Given the description of an element on the screen output the (x, y) to click on. 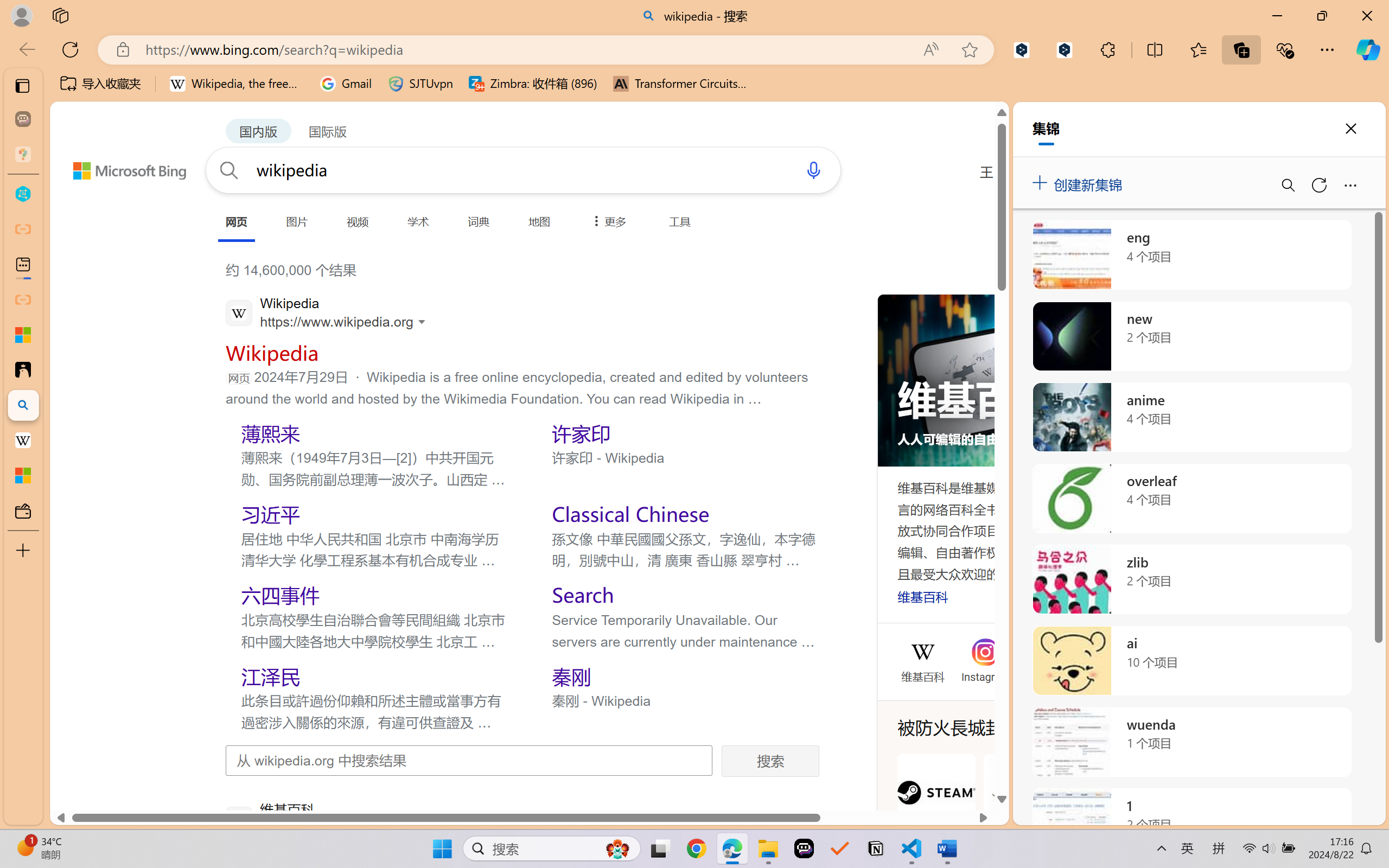
Gmail (345, 83)
